Given the description of an element on the screen output the (x, y) to click on. 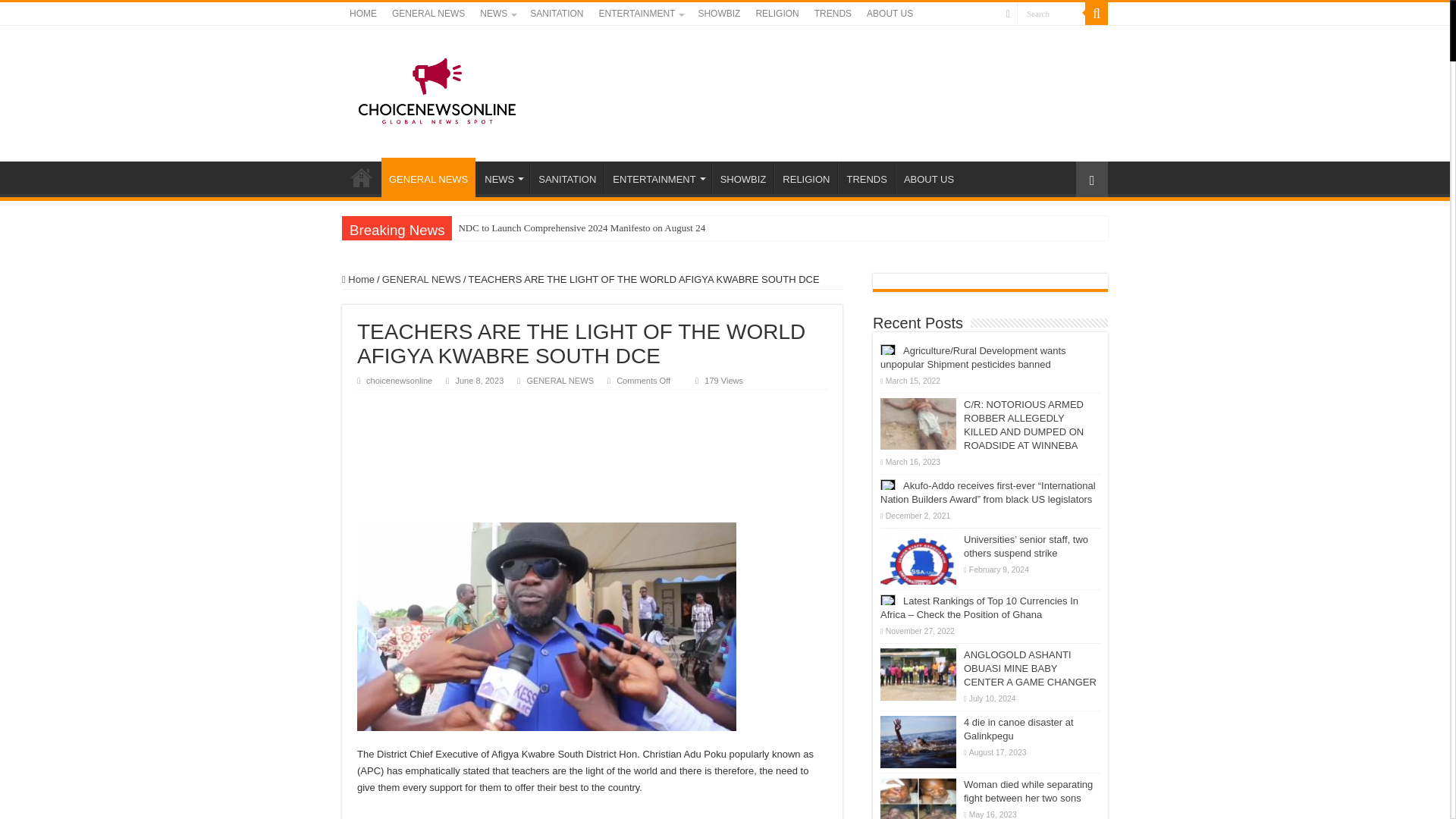
NEWS (502, 177)
HOME (361, 177)
RELIGION (777, 13)
SHOWBIZ (719, 13)
NDC to Launch Comprehensive 2024 Manifesto on August 24 (581, 228)
ABOUT US (889, 13)
Search (1050, 13)
Choicenewsonline (436, 90)
NEWS (496, 13)
HOME (363, 13)
